Given the description of an element on the screen output the (x, y) to click on. 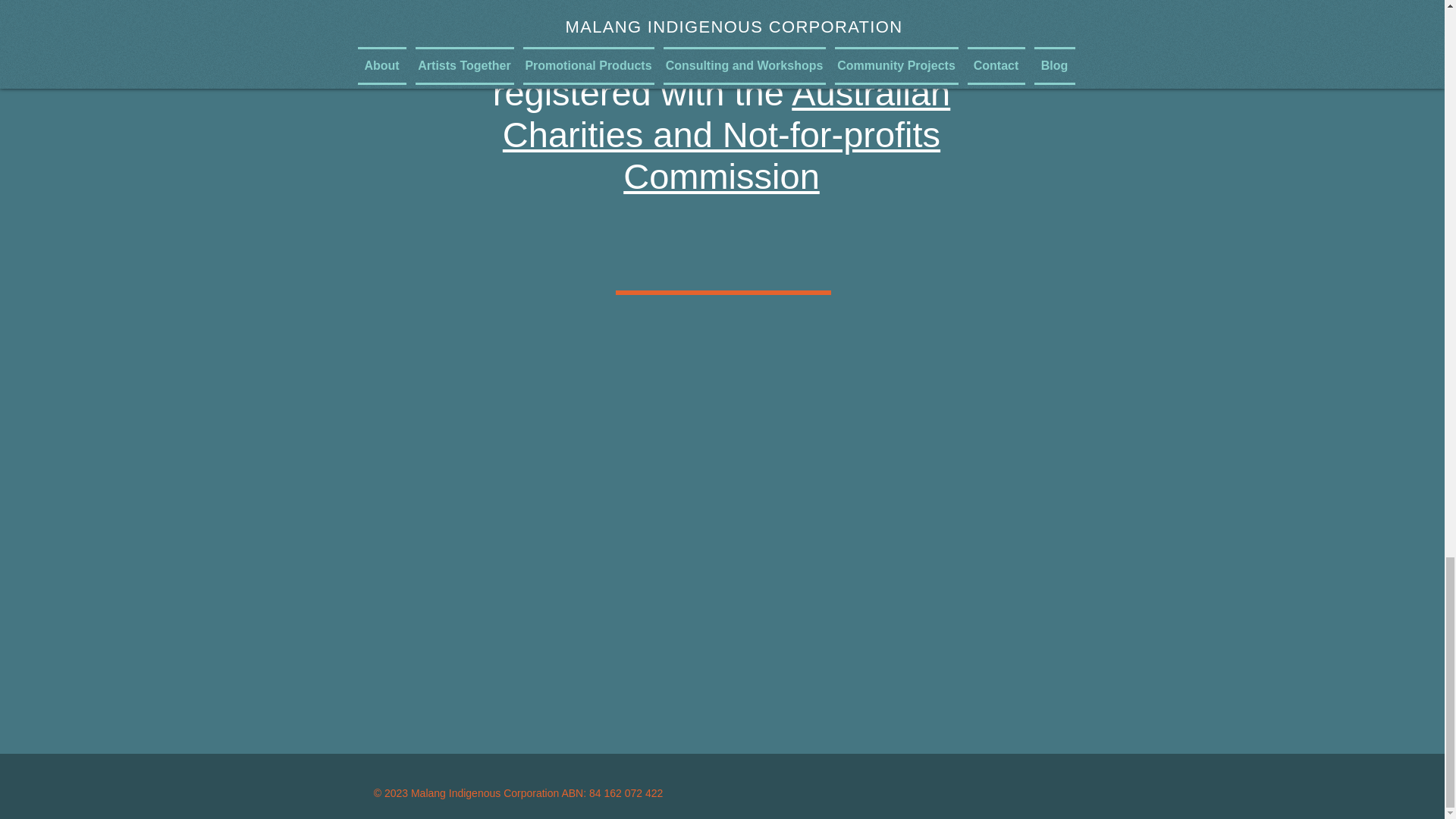
Australian Charities and Not-for-profits Commission (726, 134)
